Given the description of an element on the screen output the (x, y) to click on. 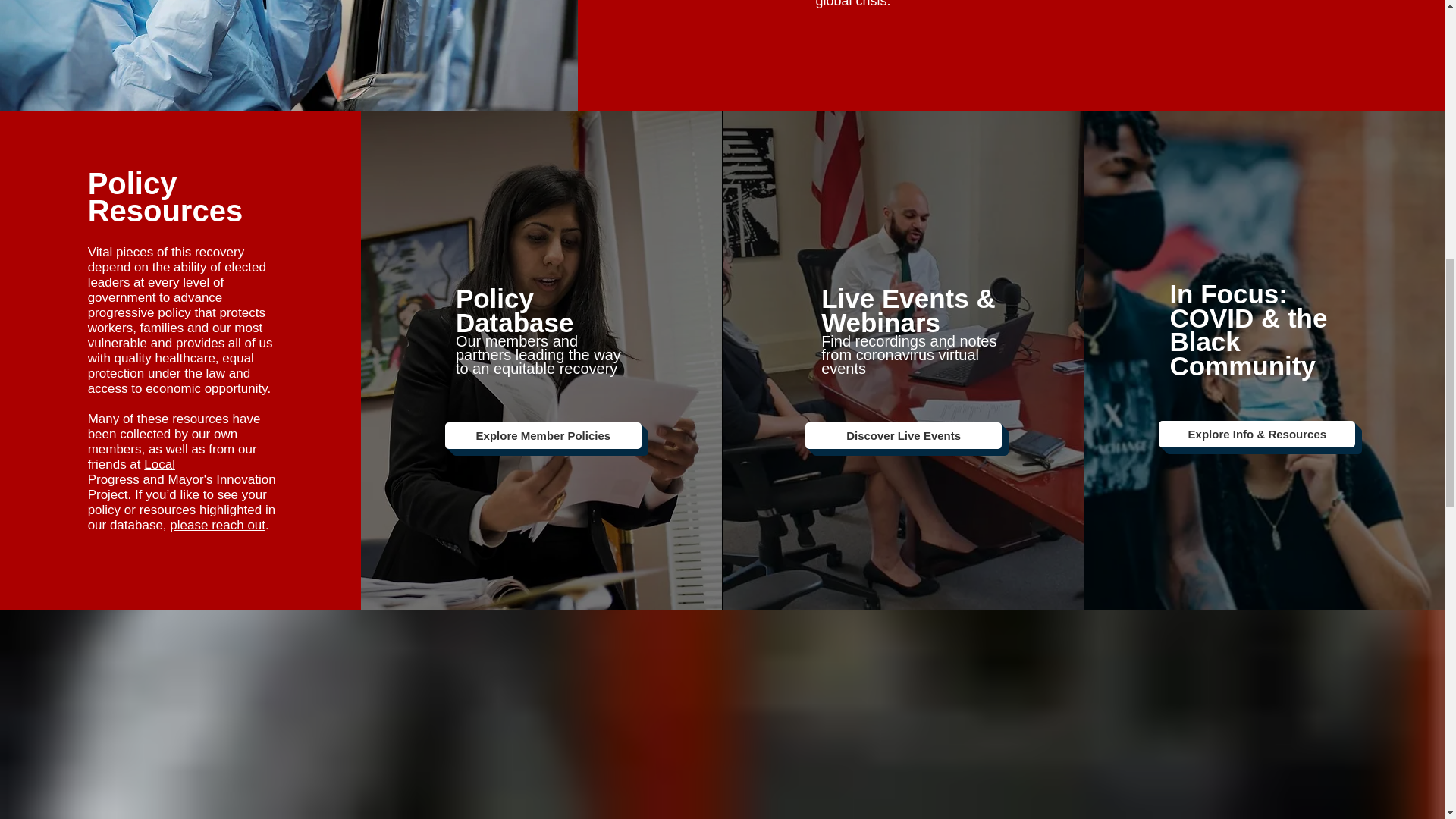
Discover Live Events (903, 435)
please reach out (217, 524)
Explore Member Policies (543, 435)
Find recordings and notes from coronavirus virtual events (908, 354)
Local Progress (130, 471)
Policy Database (514, 310)
 Mayor's Innovation Project (181, 487)
